Given the description of an element on the screen output the (x, y) to click on. 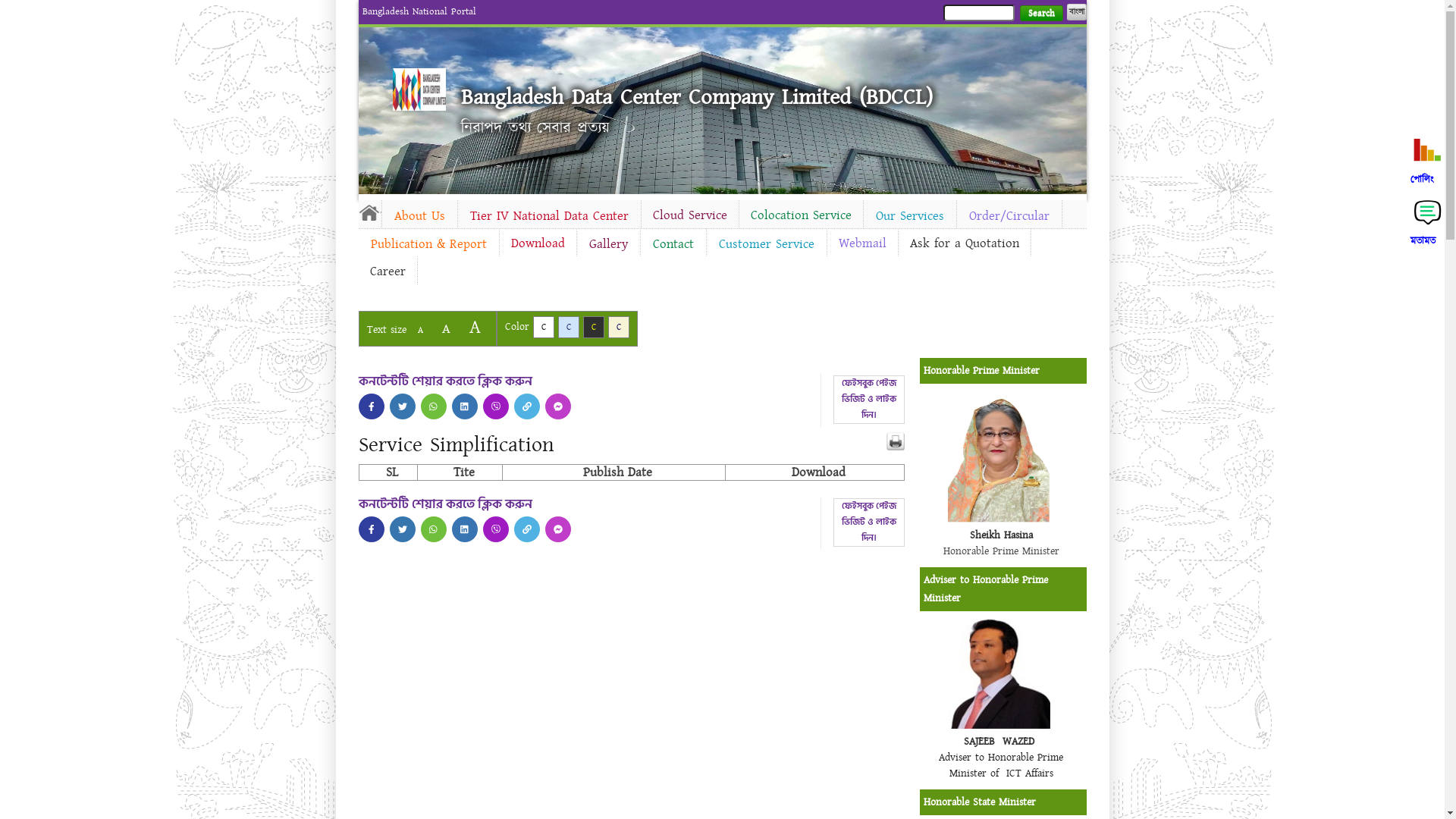
C Element type: text (592, 327)
Career Element type: text (386, 271)
Home Element type: hover (368, 211)
C Element type: text (618, 327)
Cloud Service Element type: text (689, 215)
Gallery Element type: text (607, 244)
A Element type: text (419, 330)
Tier IV National Data Center Element type: text (549, 216)
Webmail Element type: text (861, 243)
Search Element type: text (1040, 13)
Ask for a Quotation Element type: text (963, 243)
Customer Service Element type: text (766, 244)
A Element type: text (445, 328)
C Element type: text (568, 327)
Download Element type: text (536, 243)
Bangladesh Data Center Company Limited (BDCCL) Element type: text (696, 96)
Home Element type: hover (418, 89)
Order/Circular Element type: text (1009, 216)
A Element type: text (474, 327)
Bangladesh National Portal Element type: text (419, 11)
Colocation Service Element type: text (800, 215)
Our Services Element type: text (908, 216)
Publication & Report Element type: text (427, 244)
C Element type: text (542, 327)
Contact Element type: text (672, 244)
About Us Element type: text (419, 216)
